Given the description of an element on the screen output the (x, y) to click on. 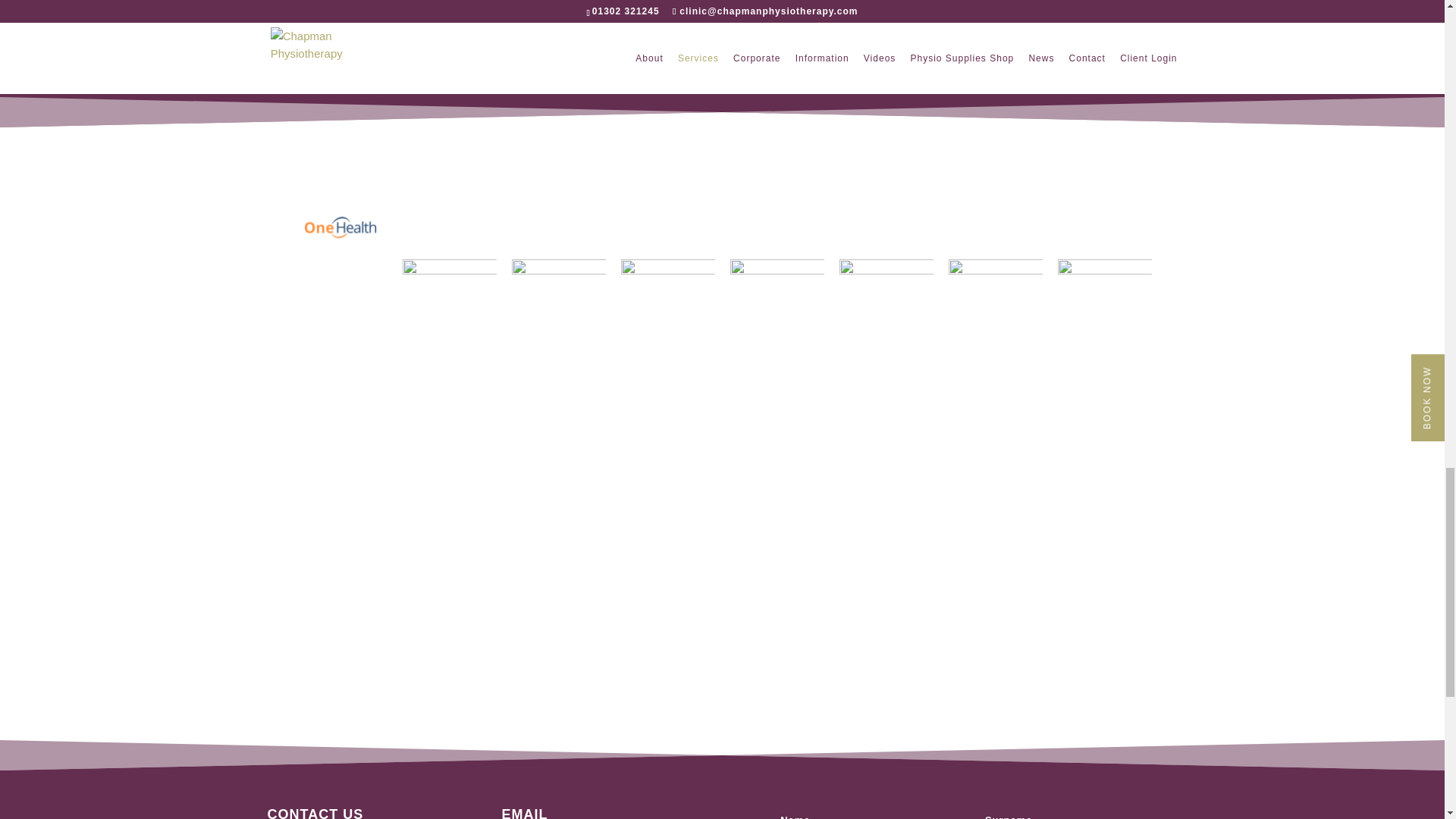
avi (1104, 305)
pru (885, 305)
axa (994, 305)
nuf (776, 305)
Westfieldhealthlogo (667, 305)
